Given the description of an element on the screen output the (x, y) to click on. 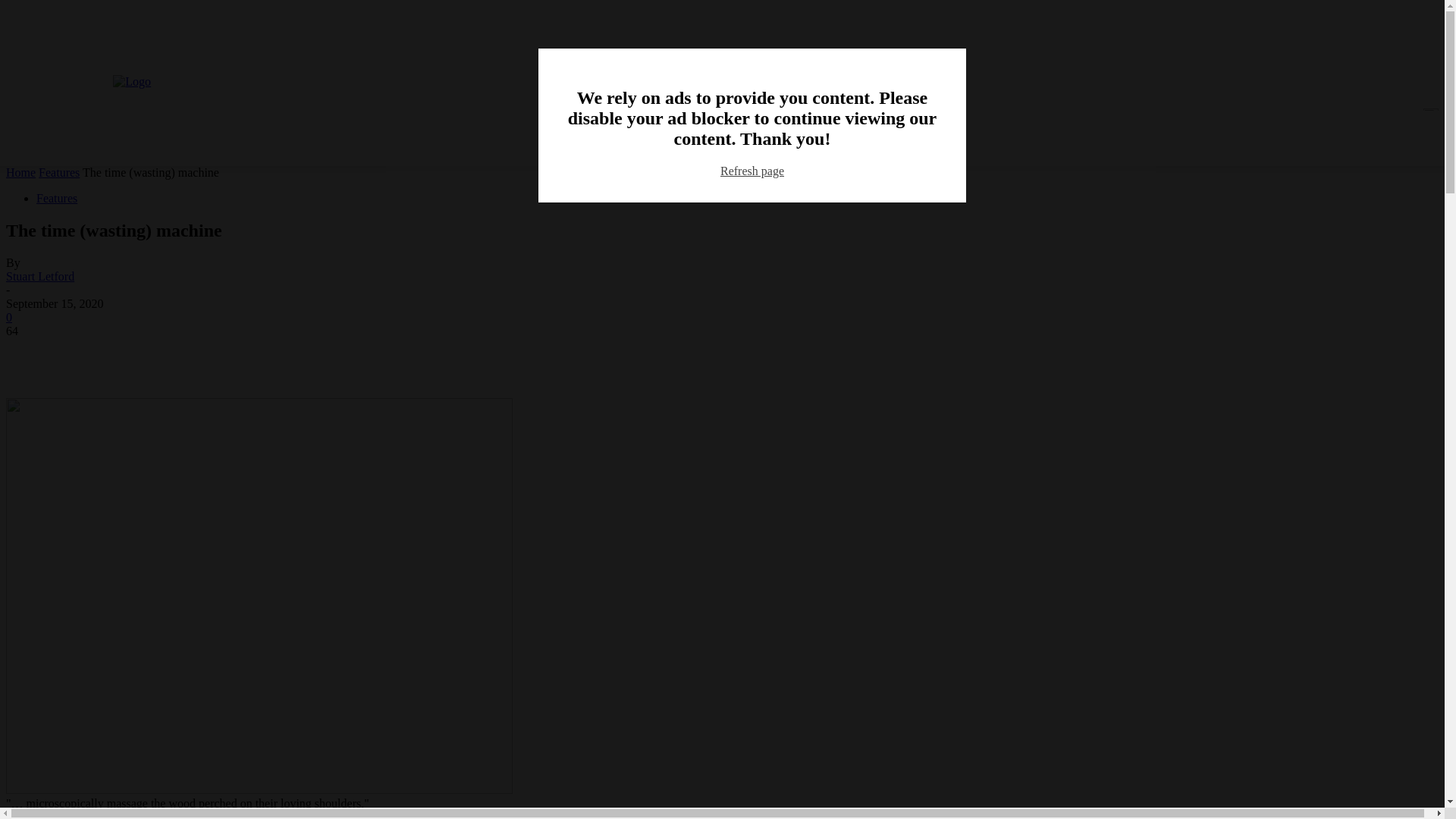
EVENTS (1406, 184)
FEATURES (1083, 184)
NEWS (1018, 184)
View all posts in Features (59, 172)
Features (59, 172)
Stuart Letford (39, 276)
Home (19, 172)
Features (56, 197)
SCENE AROUND (1321, 184)
